Given the description of an element on the screen output the (x, y) to click on. 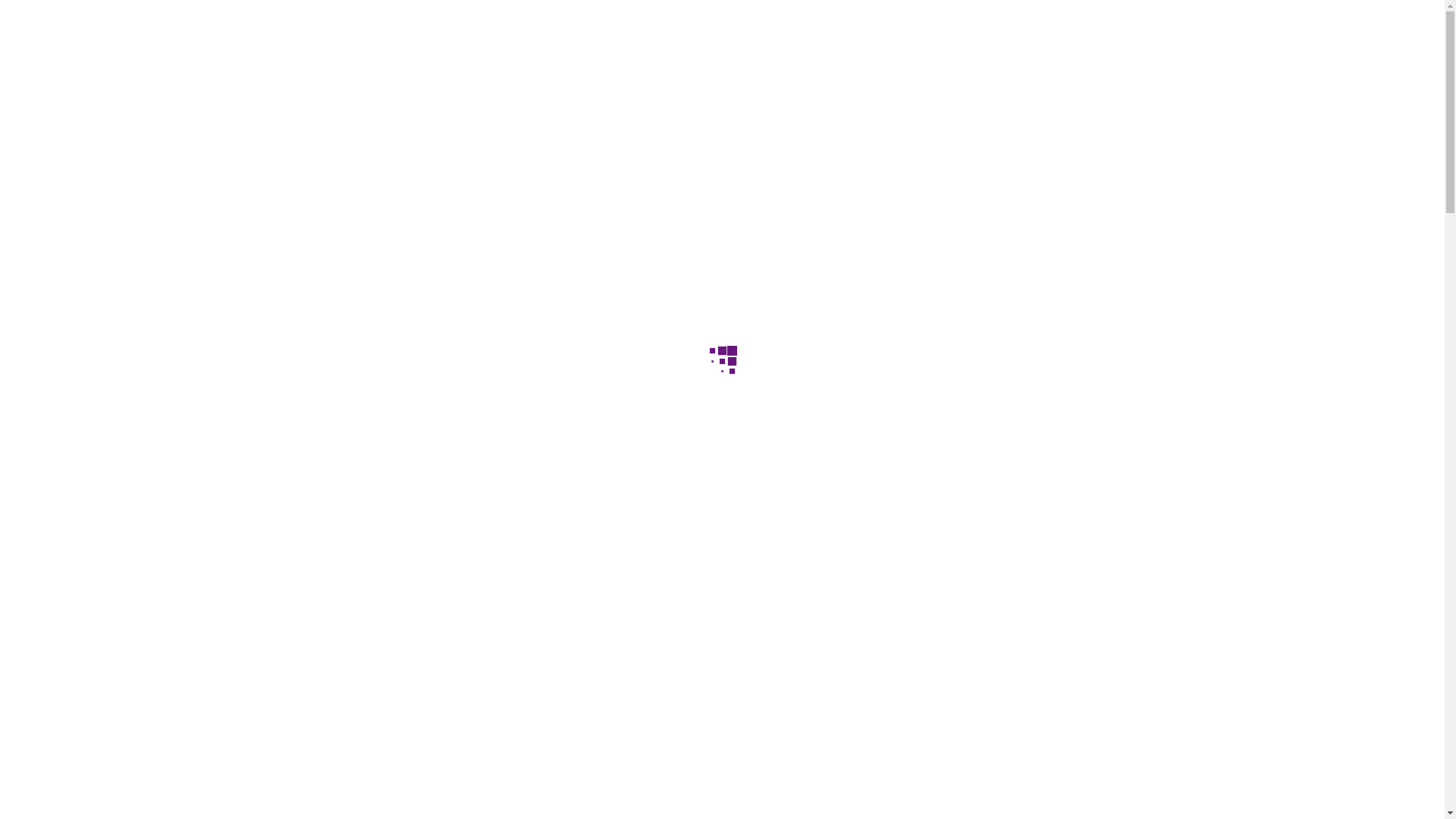
Qty Element type: hover (769, 472)
image500.01.01.5757-1 Element type: hover (419, 408)
